Given the description of an element on the screen output the (x, y) to click on. 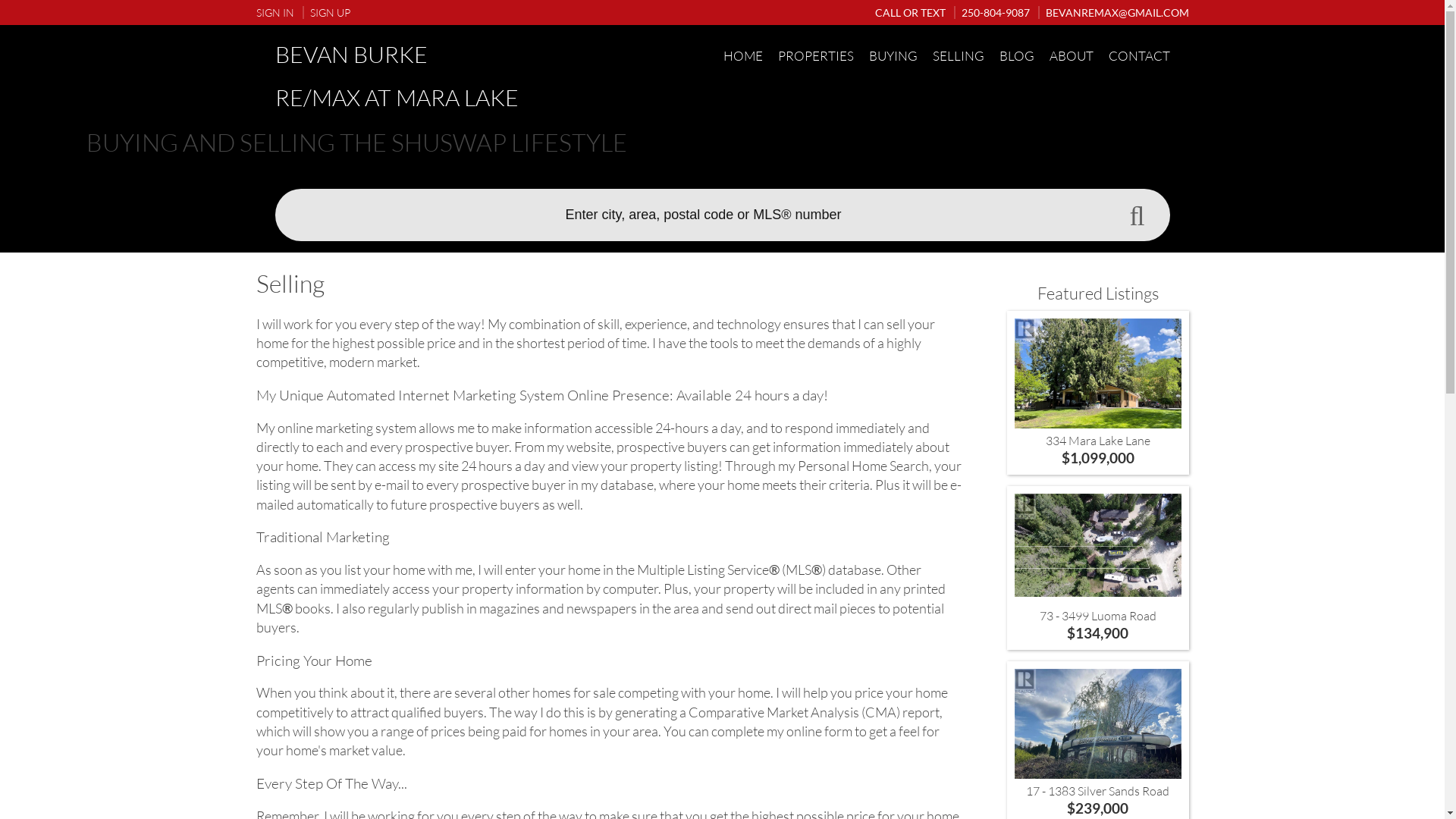
SELLING Element type: text (958, 55)
BLOG Element type: text (1016, 55)
SIGN IN Element type: text (275, 12)
BUYING Element type: text (893, 55)
BEVANREMAX@GMAIL.COM Element type: text (1112, 12)
CONTACT Element type: text (1139, 55)
Search Element type: text (1136, 215)
SIGN UP Element type: text (325, 12)
PROPERTIES Element type: text (815, 55)
ABOUT Element type: text (1071, 55)
HOME Element type: text (742, 55)
250-804-9087 Element type: text (991, 12)
